Given the description of an element on the screen output the (x, y) to click on. 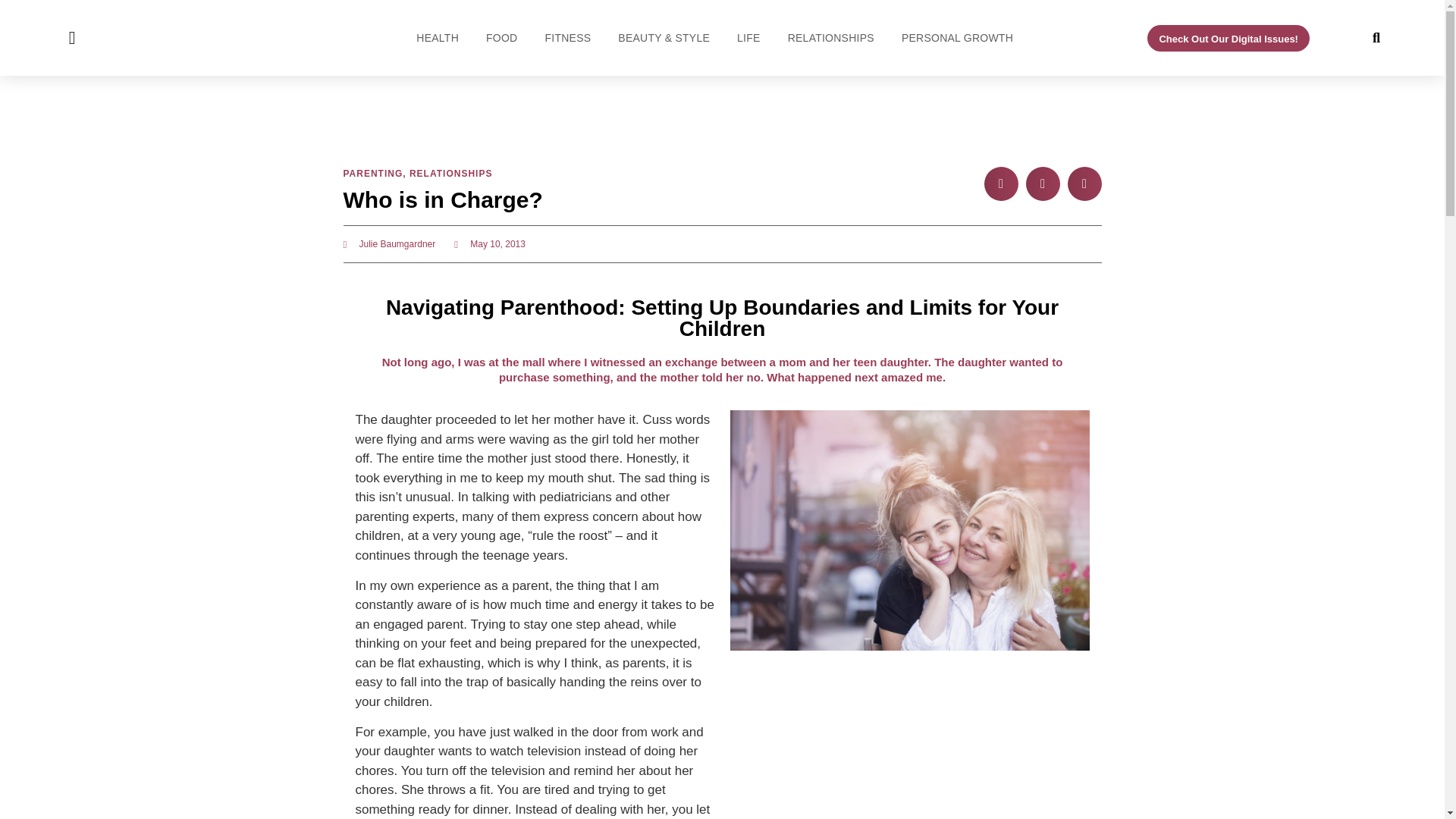
PERSONAL GROWTH (957, 37)
FITNESS (567, 37)
Check Out Our Digital Issues! (1227, 37)
RELATIONSHIPS (830, 37)
HEALTH (437, 37)
FOOD (501, 37)
LIFE (748, 37)
